Given the description of an element on the screen output the (x, y) to click on. 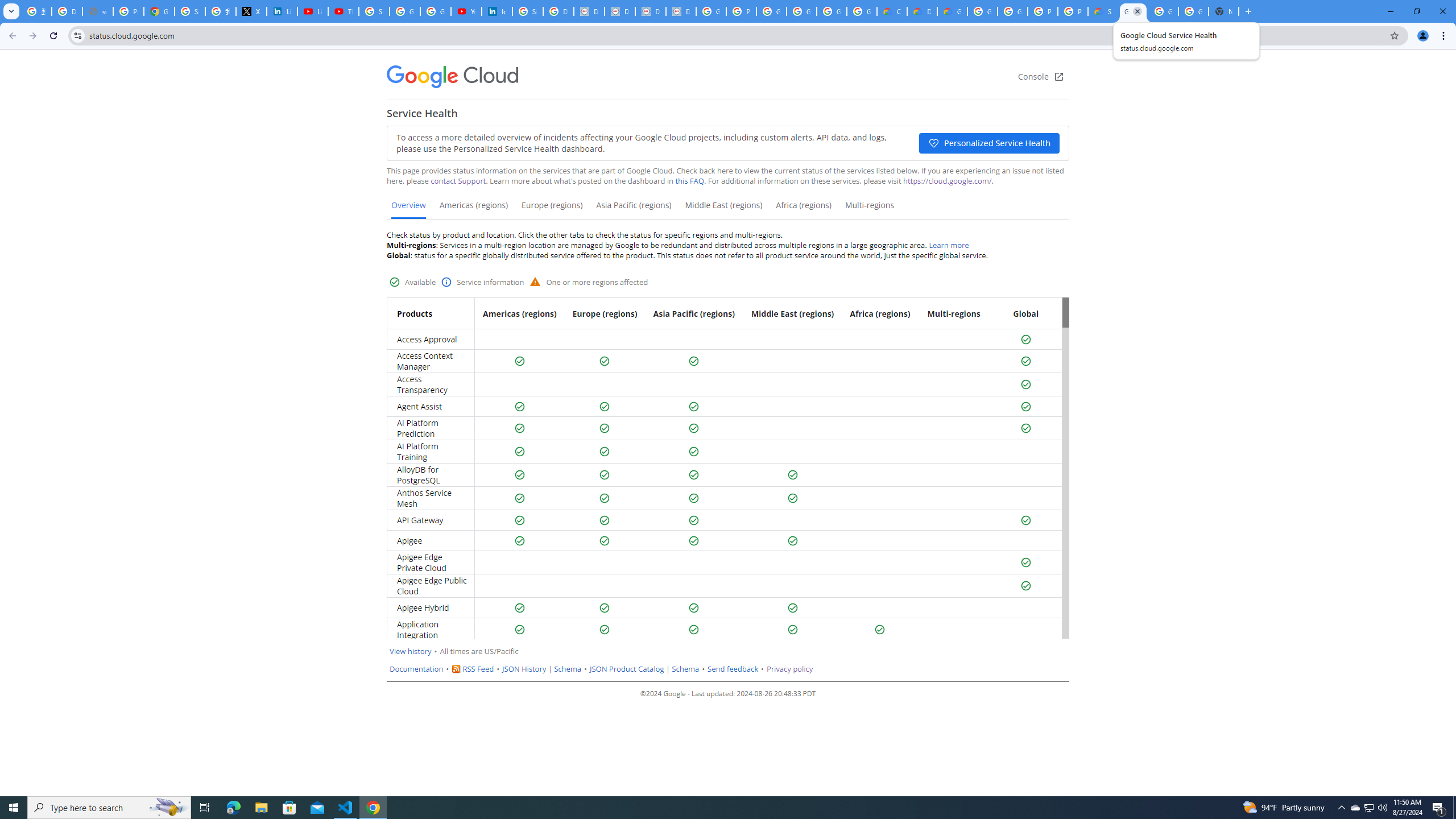
Data Privacy Framework (589, 11)
Available status (880, 629)
Customer Care | Google Cloud (892, 11)
JSON Product Catalog (626, 668)
